Given the description of an element on the screen output the (x, y) to click on. 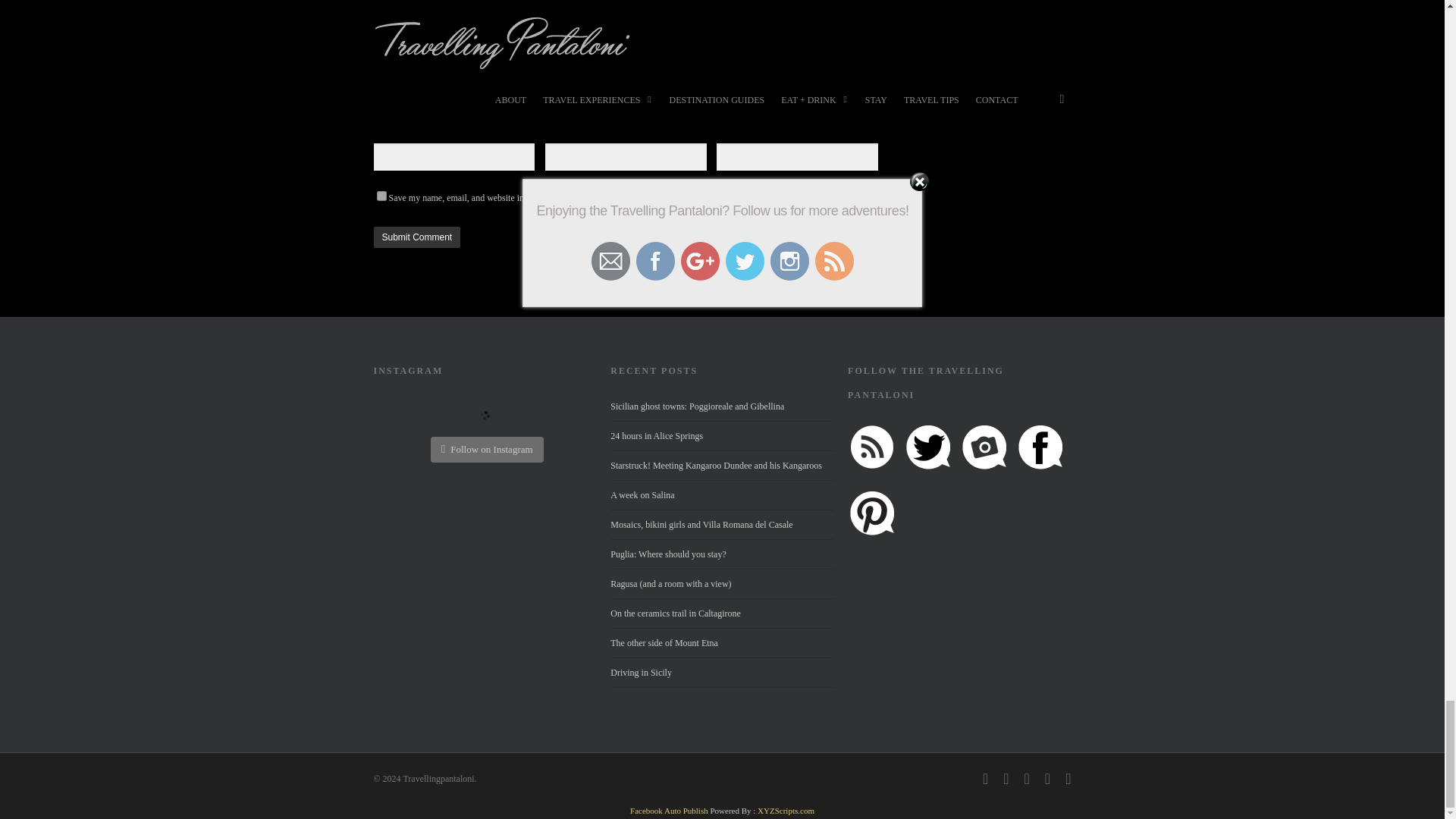
Facebook Auto Publish (668, 809)
Submit Comment (416, 237)
yes (380, 195)
